Given the description of an element on the screen output the (x, y) to click on. 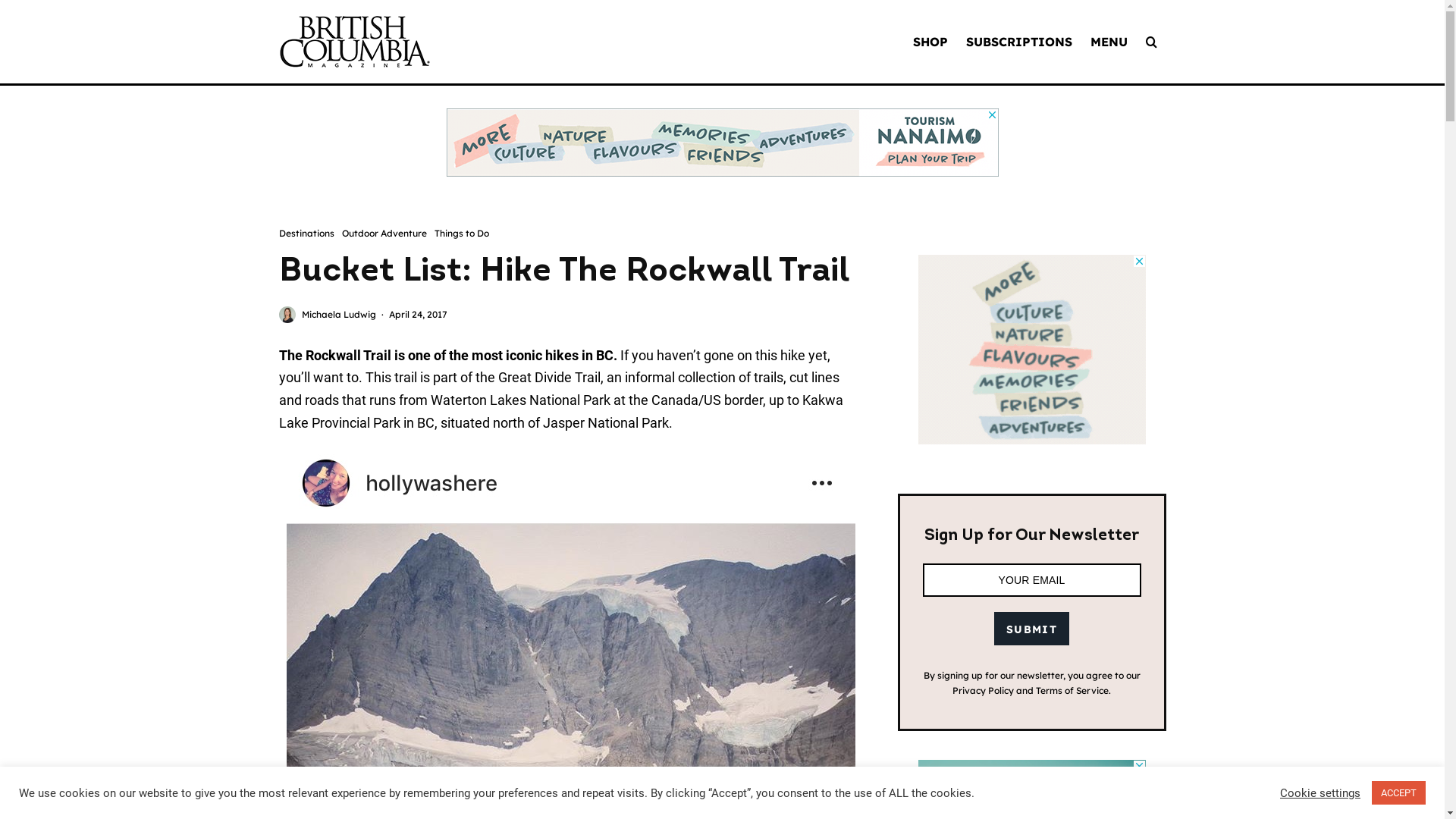
SUBMIT Element type: text (1031, 628)
3rd party ad content Element type: hover (721, 142)
Cookie settings Element type: text (1320, 792)
Outdoor Adventure Element type: text (383, 233)
SUBSCRIPTIONS Element type: text (1019, 41)
Things to Do Element type: text (460, 233)
Michaela Ludwig Element type: text (338, 314)
Destinations Element type: text (306, 233)
MENU Element type: text (1108, 41)
ACCEPT Element type: text (1398, 792)
SHOP Element type: text (930, 41)
3rd party ad content Element type: hover (1031, 349)
